Given the description of an element on the screen output the (x, y) to click on. 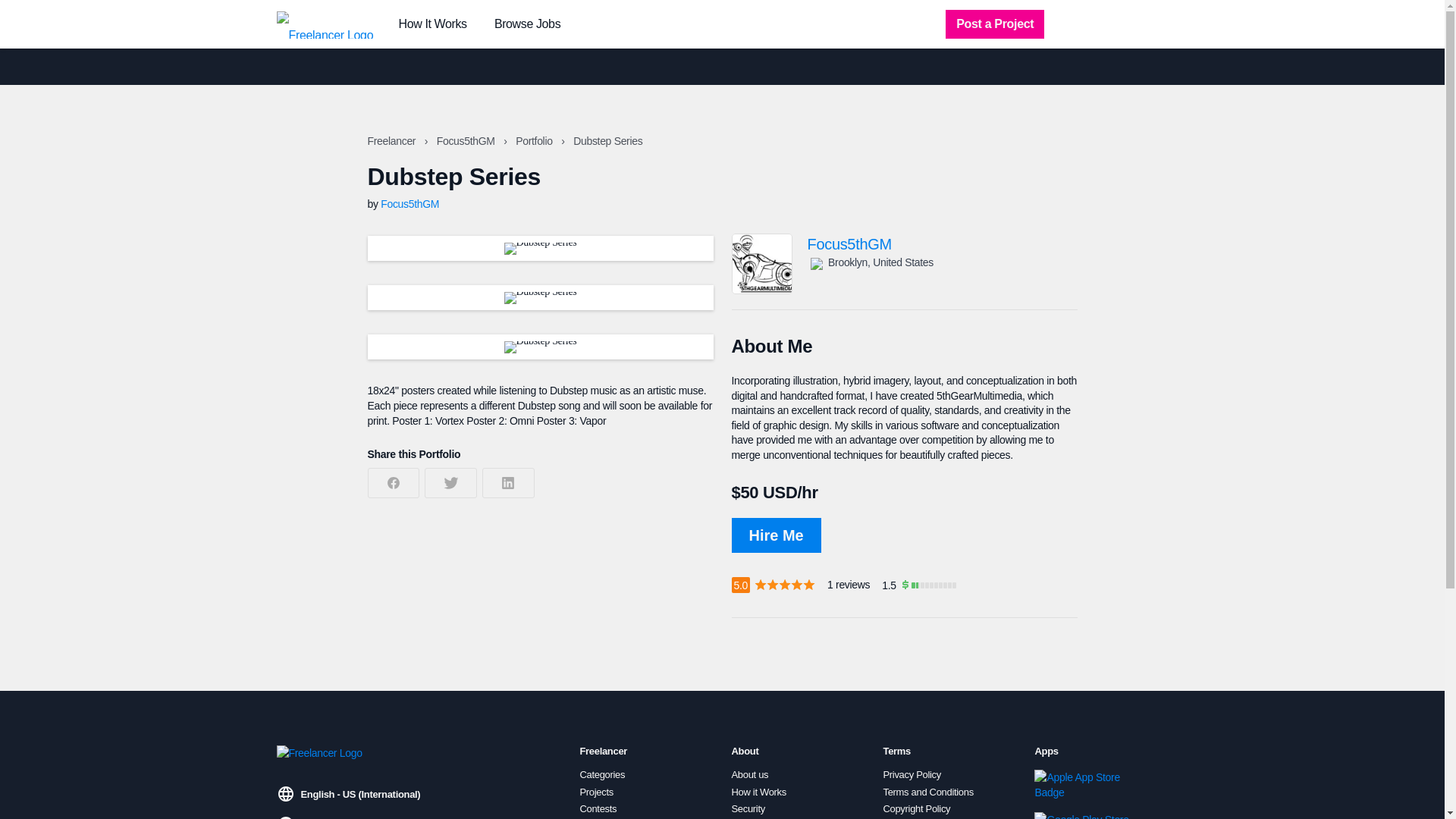
Portfolio (534, 141)
Freelancer (391, 141)
Share on Twitter (450, 482)
Contests (597, 808)
How It Works (432, 24)
Categories (601, 775)
Download on the App Store (1085, 784)
Projects (595, 791)
How it Works (758, 791)
Post a Project (993, 23)
